Given the description of an element on the screen output the (x, y) to click on. 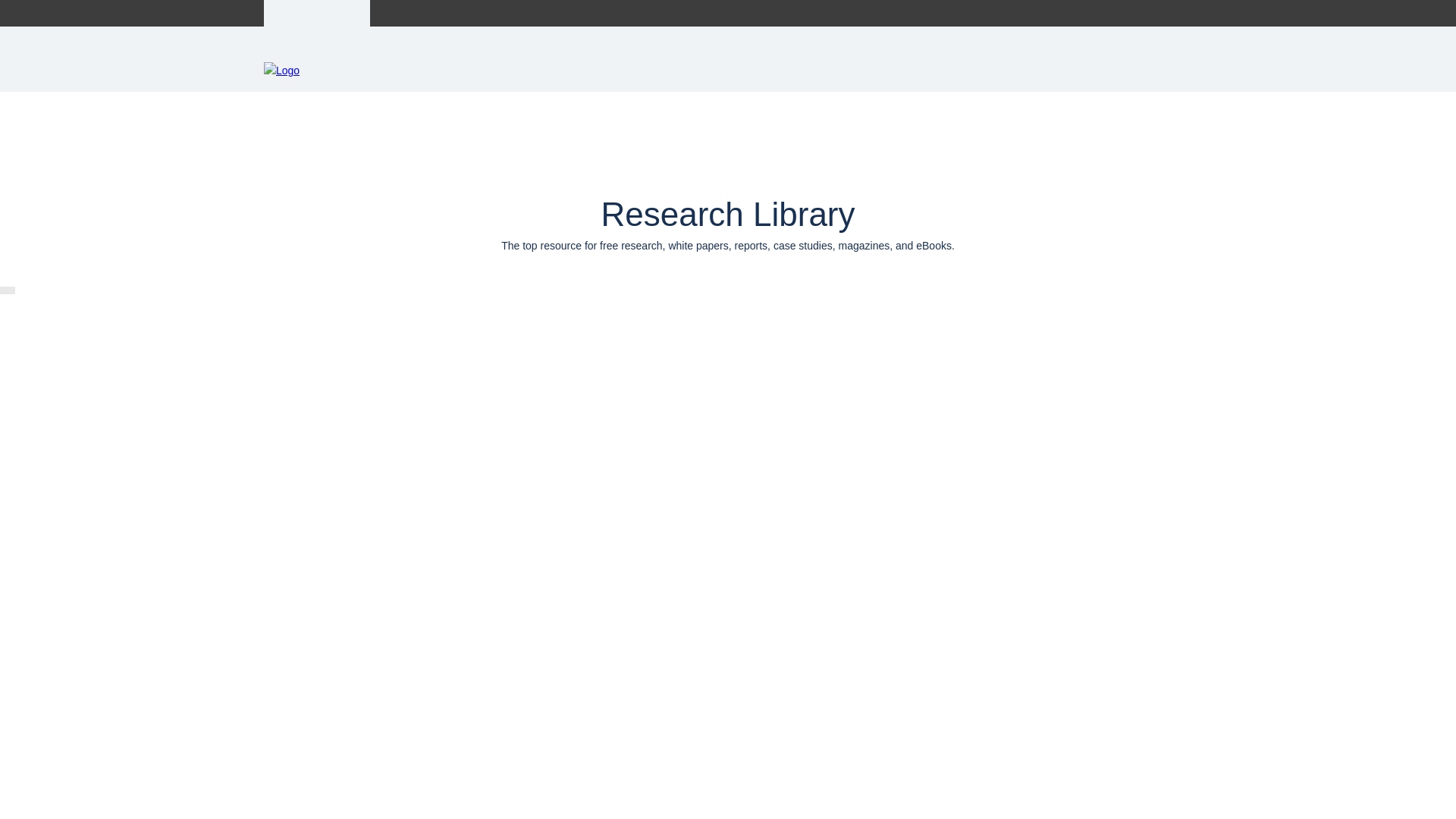
GenomeWeb (316, 13)
Precision Oncology News (505, 13)
360Dx (410, 13)
